Given the description of an element on the screen output the (x, y) to click on. 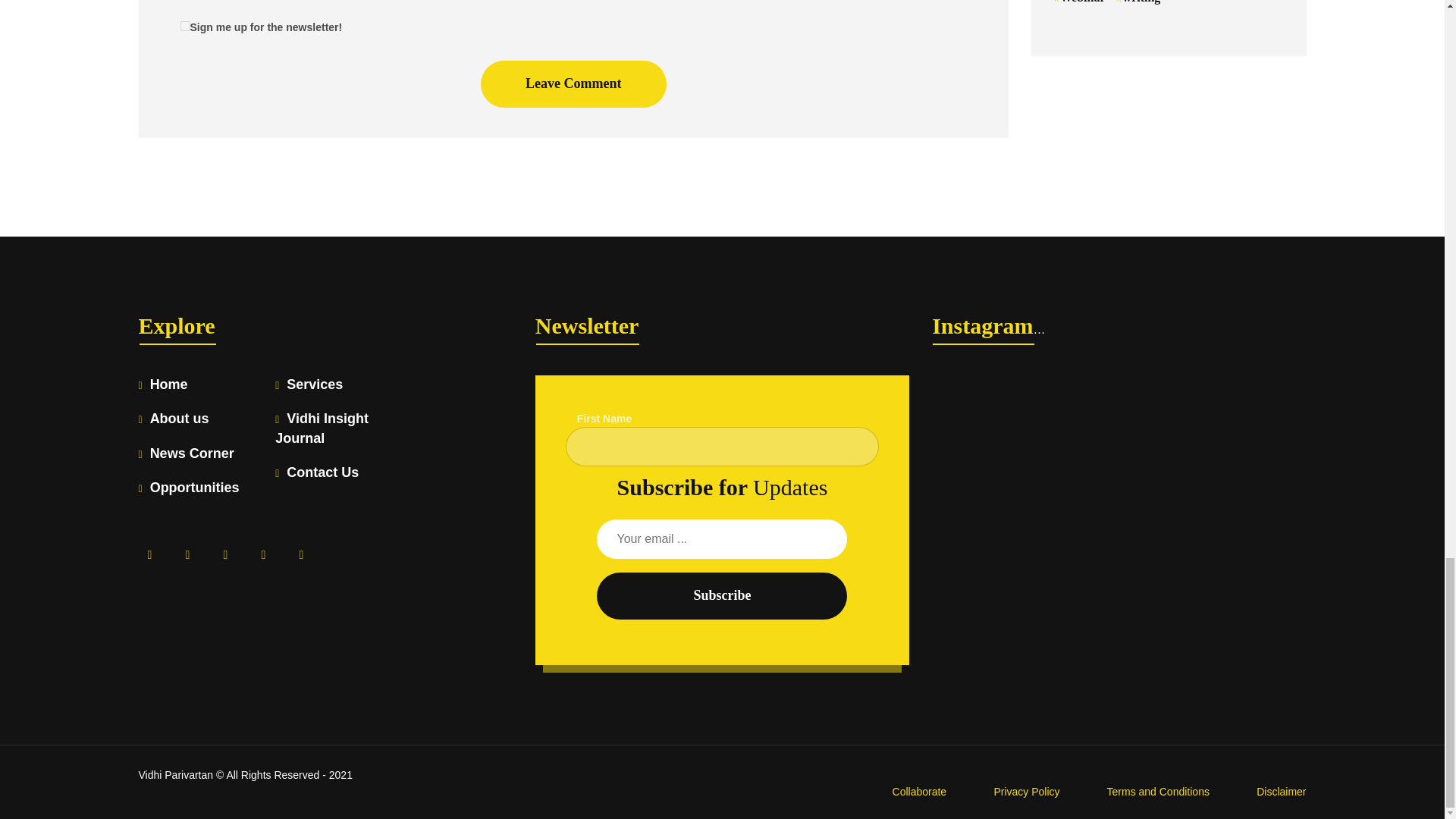
1 (185, 26)
Leave Comment (573, 83)
